Given the description of an element on the screen output the (x, y) to click on. 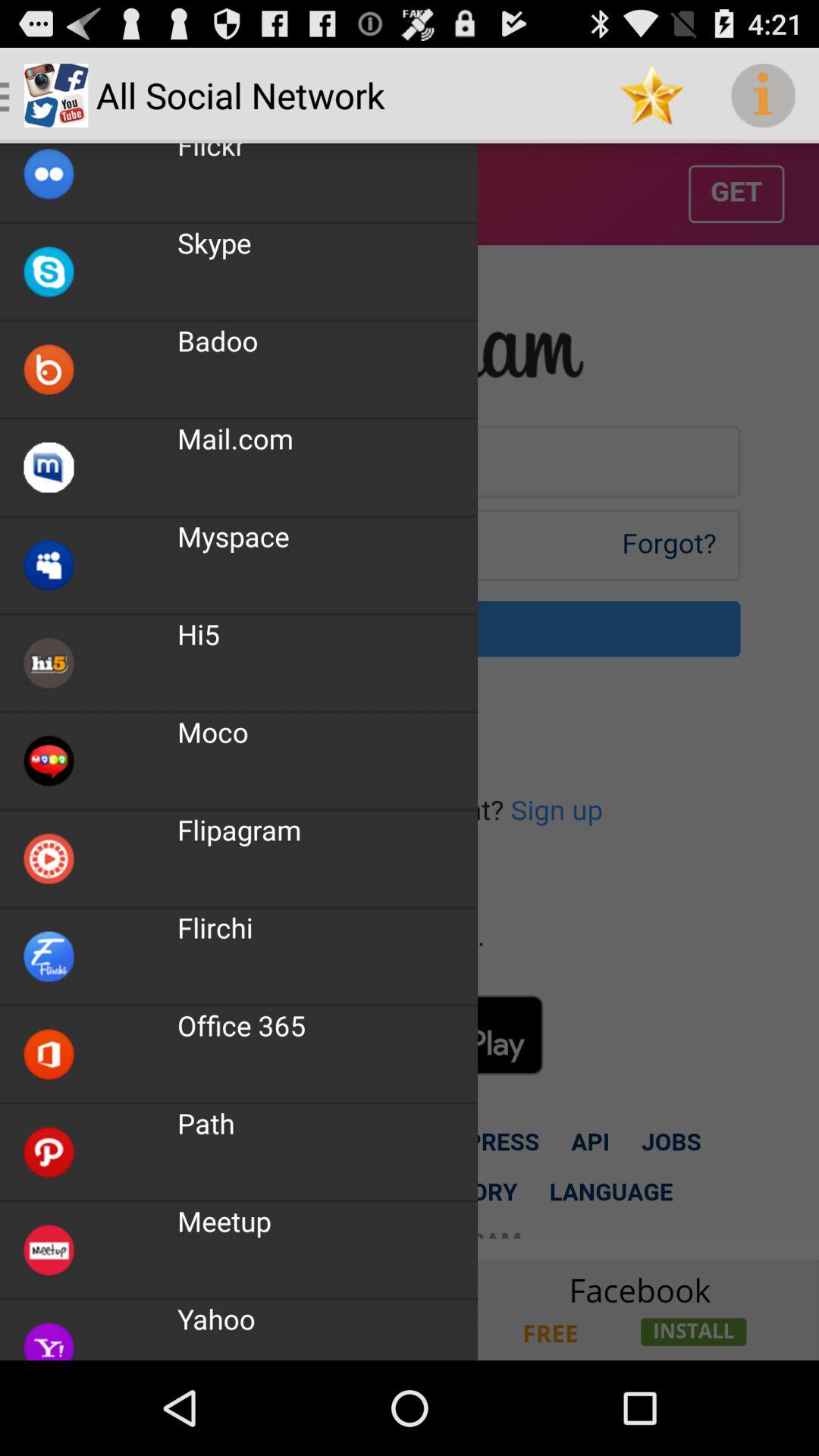
choose icon at the center (409, 690)
